Given the description of an element on the screen output the (x, y) to click on. 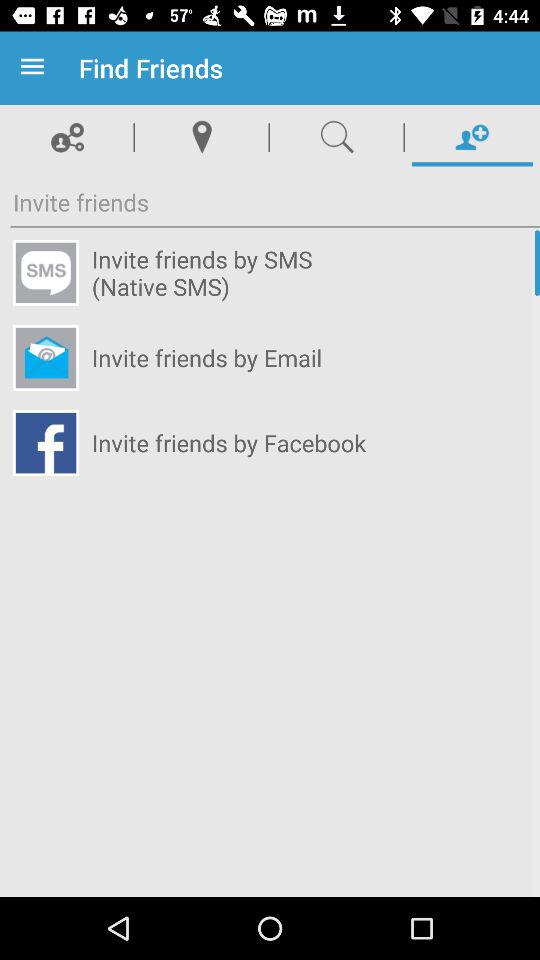
press icon next to find friends app (36, 68)
